Given the description of an element on the screen output the (x, y) to click on. 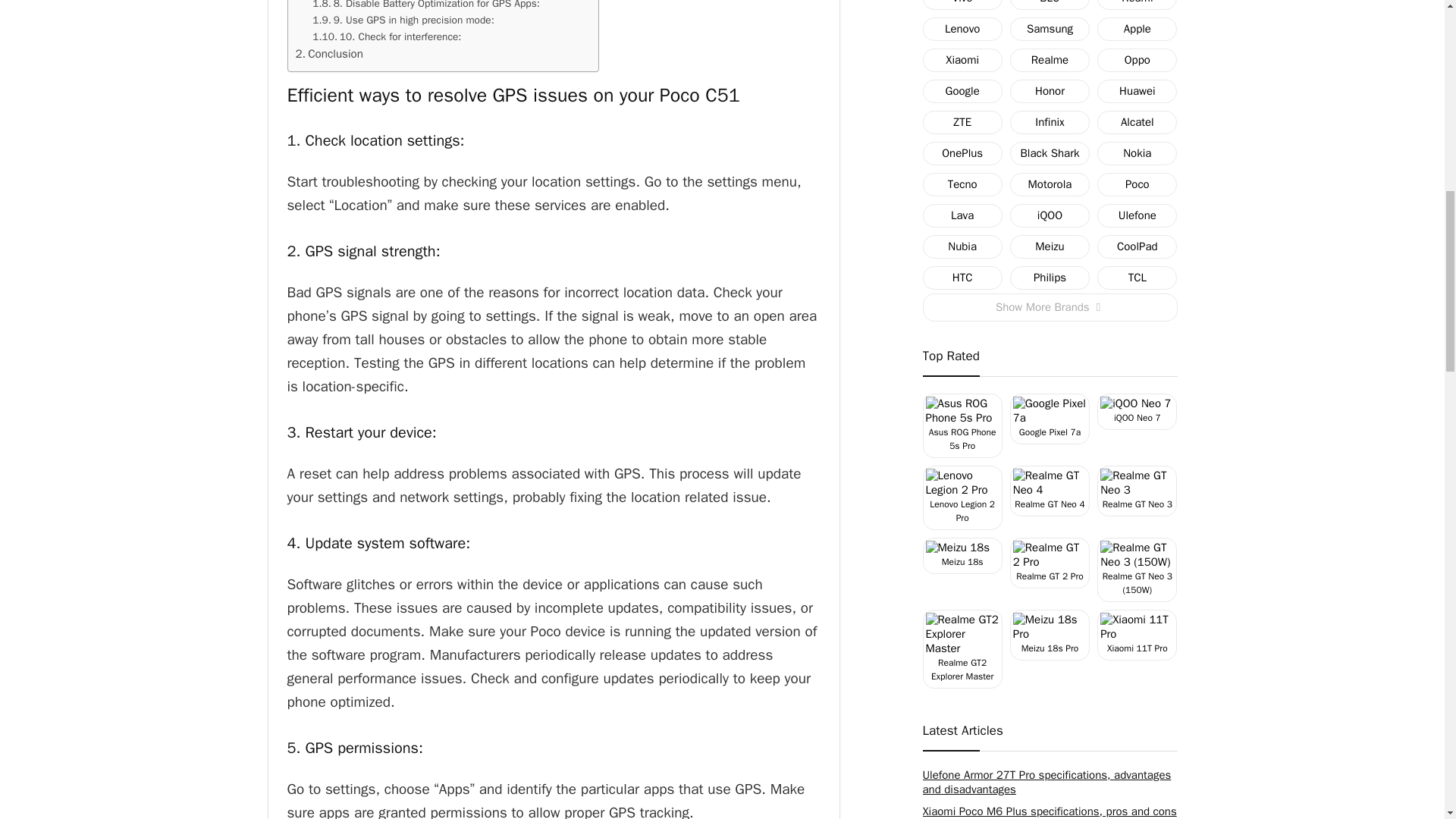
10. Check for interference: (387, 36)
9. Use GPS in high precision mode: (404, 20)
9. Use GPS in high precision mode: (404, 20)
8. Disable Battery Optimization for GPS Apps: (426, 6)
Conclusion (328, 54)
8. Disable Battery Optimization for GPS Apps: (426, 6)
Conclusion (328, 54)
10. Check for interference: (387, 36)
